Given the description of an element on the screen output the (x, y) to click on. 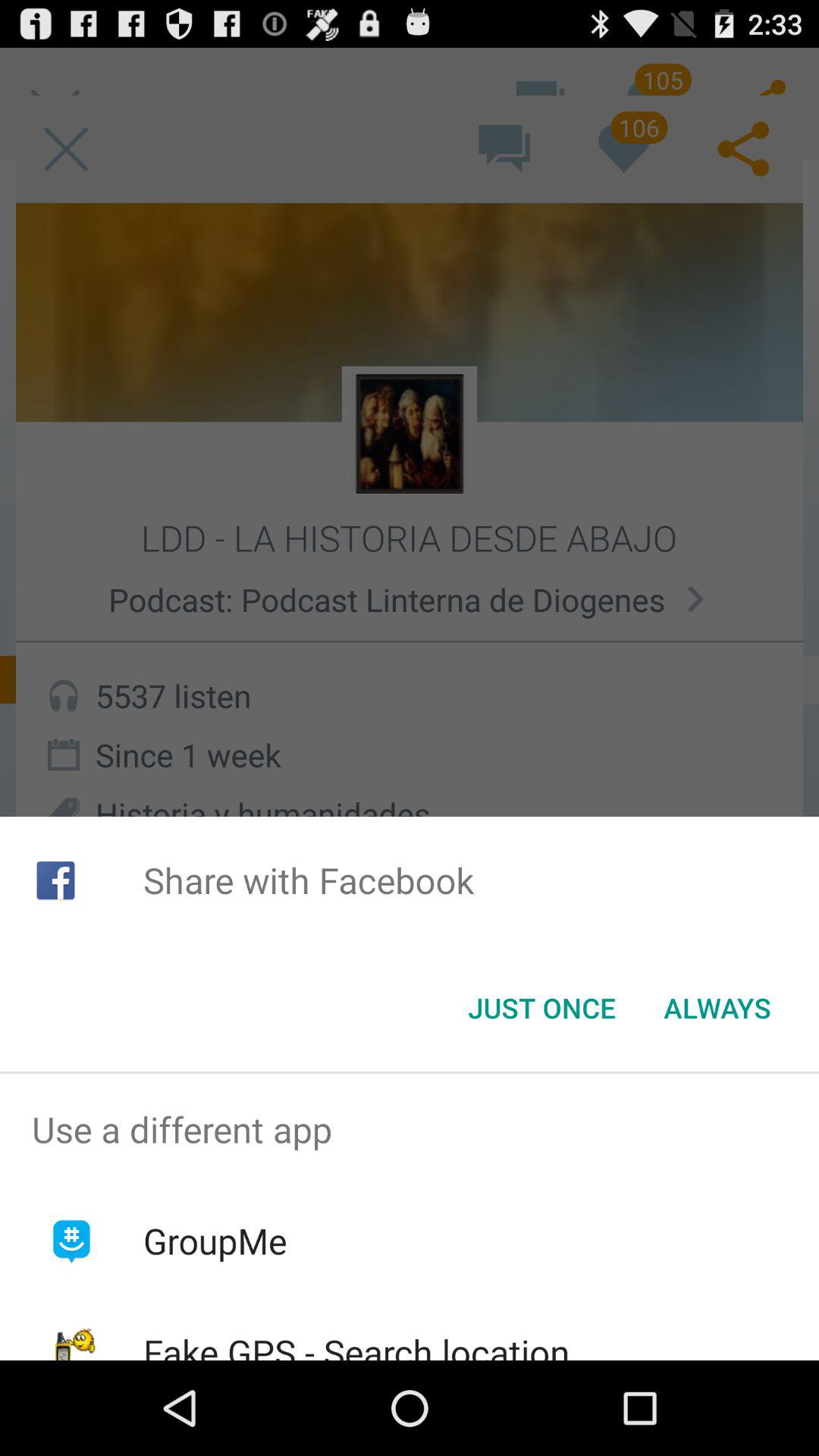
jump to use a different app (409, 1129)
